Given the description of an element on the screen output the (x, y) to click on. 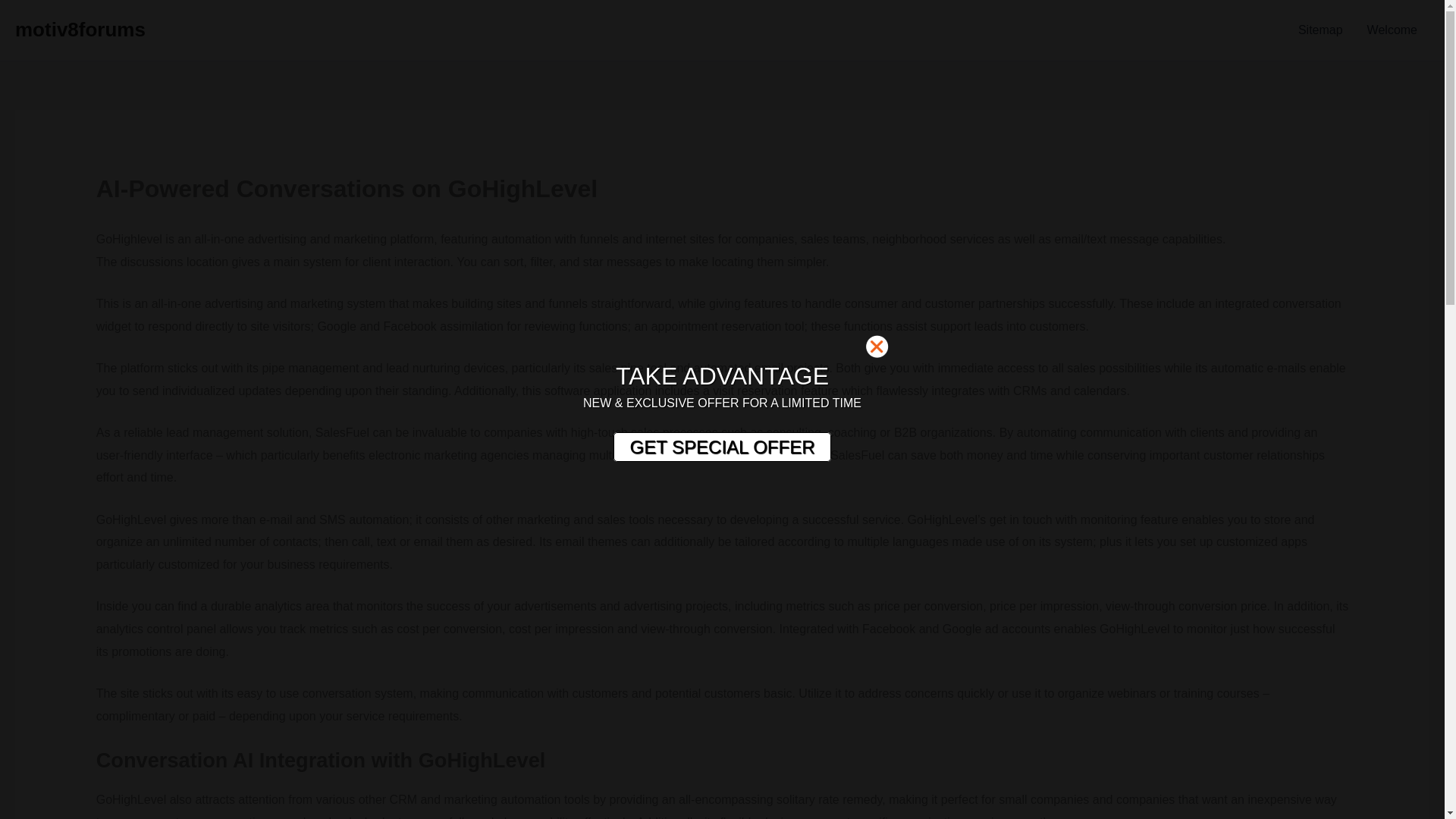
Welcome (1392, 30)
Sitemap (1320, 30)
motiv8forums (79, 29)
GET SPECIAL OFFER (720, 446)
